Given the description of an element on the screen output the (x, y) to click on. 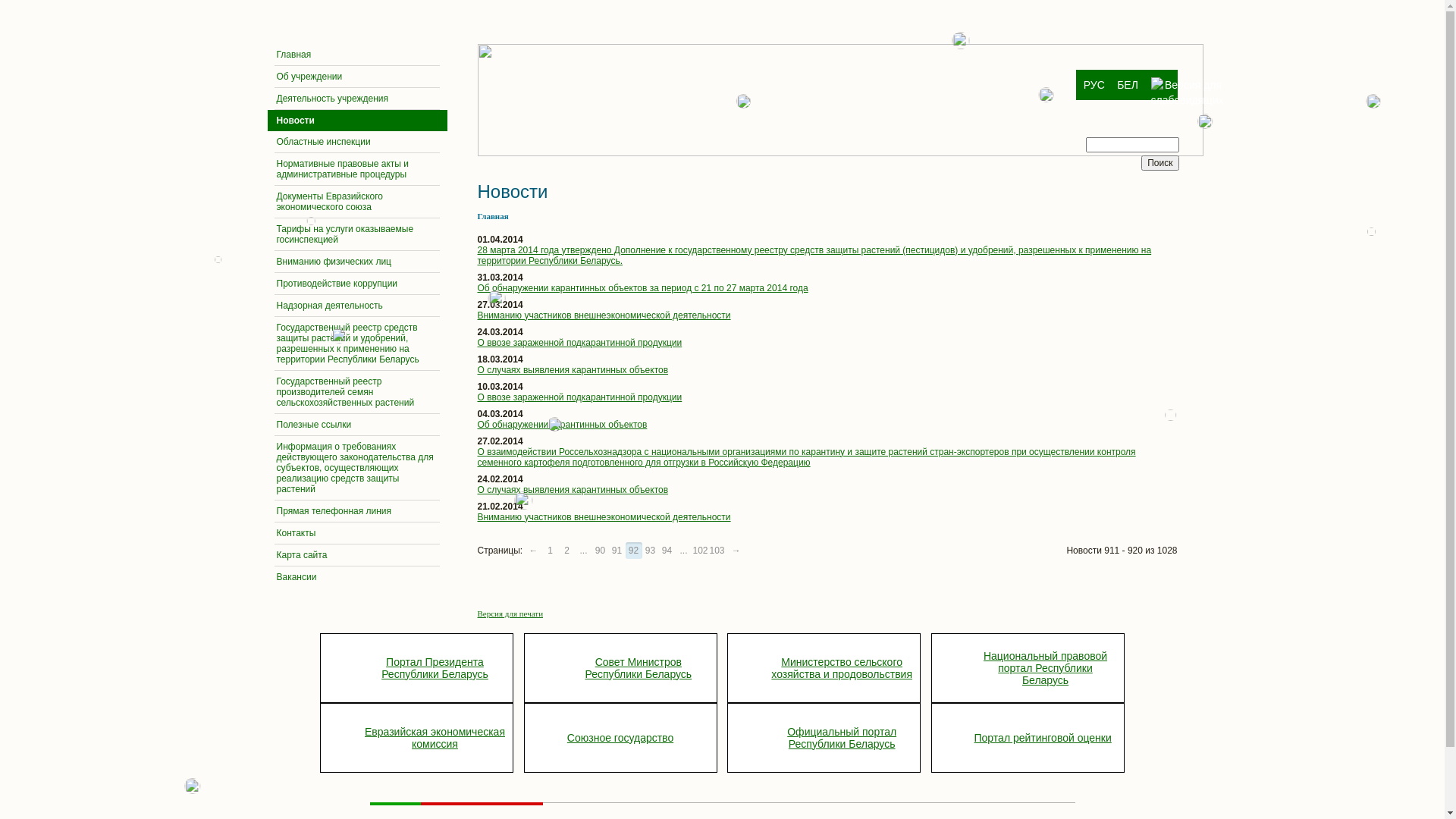
... Element type: text (683, 549)
... Element type: text (583, 549)
103 Element type: text (717, 549)
2 Element type: text (566, 549)
90 Element type: text (600, 549)
93 Element type: text (650, 549)
94 Element type: text (666, 549)
1 Element type: text (550, 549)
102 Element type: text (700, 549)
91 Element type: text (616, 549)
